Given the description of an element on the screen output the (x, y) to click on. 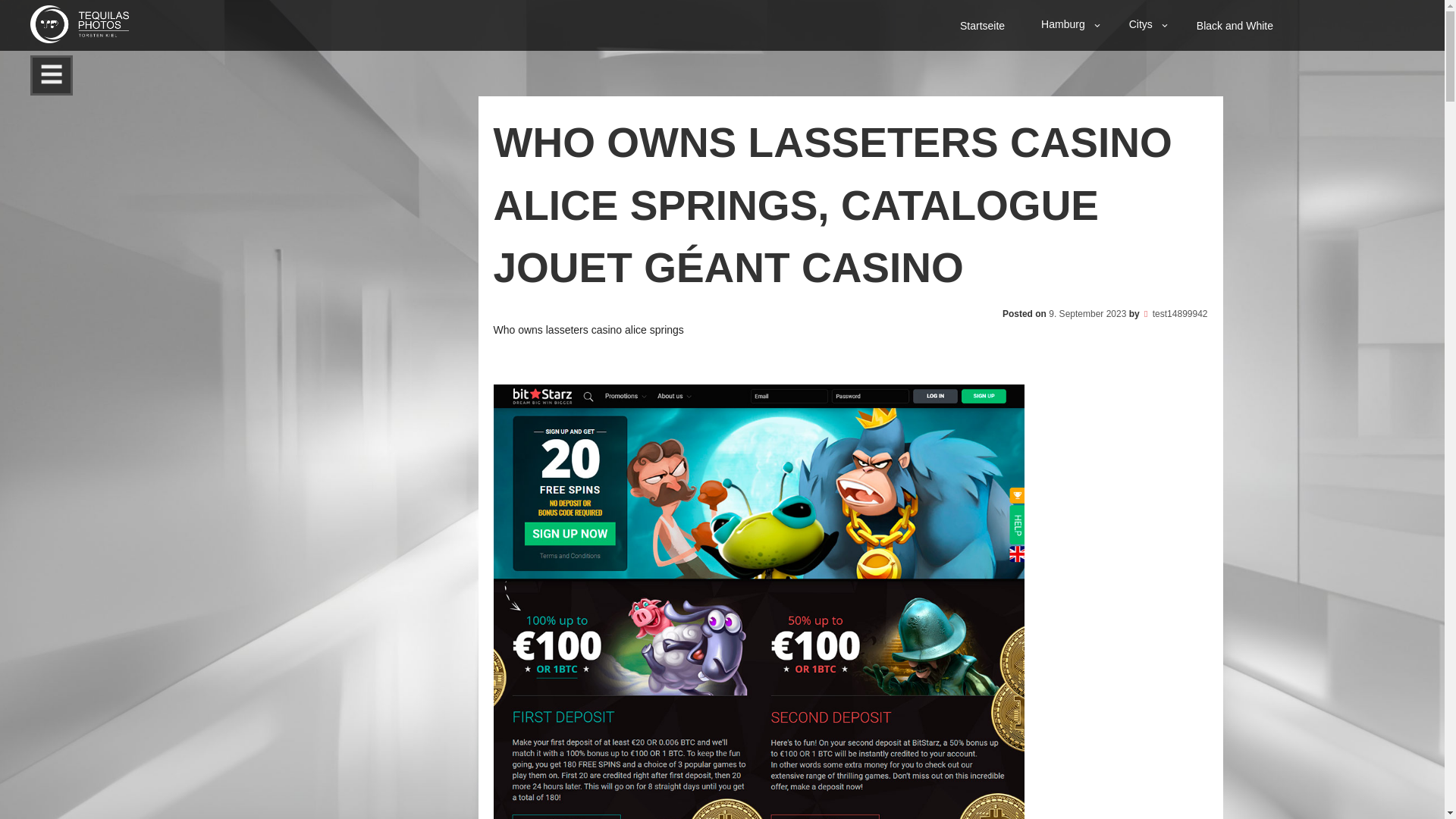
Startseite (984, 25)
Hamburg (1068, 24)
9. September 2023 (1086, 312)
Citys (1145, 24)
Black and White (1235, 25)
test14899942 (1180, 312)
Who owns lasseters casino alice springs (587, 328)
